Given the description of an element on the screen output the (x, y) to click on. 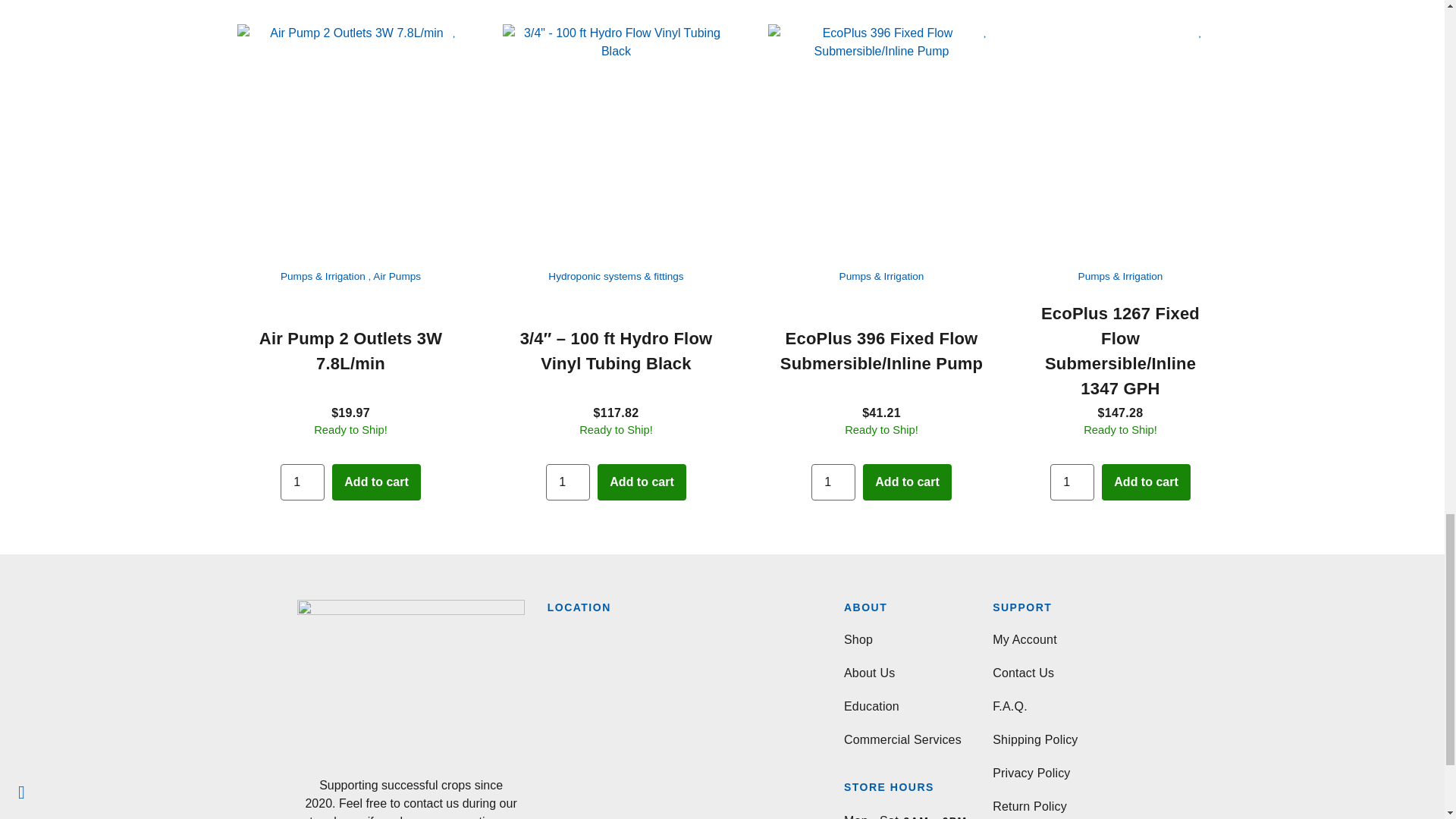
1 (567, 482)
How To Grow, Rapid City, SD 57701 (676, 724)
1 (302, 482)
1 (1071, 482)
1 (833, 482)
